Given the description of an element on the screen output the (x, y) to click on. 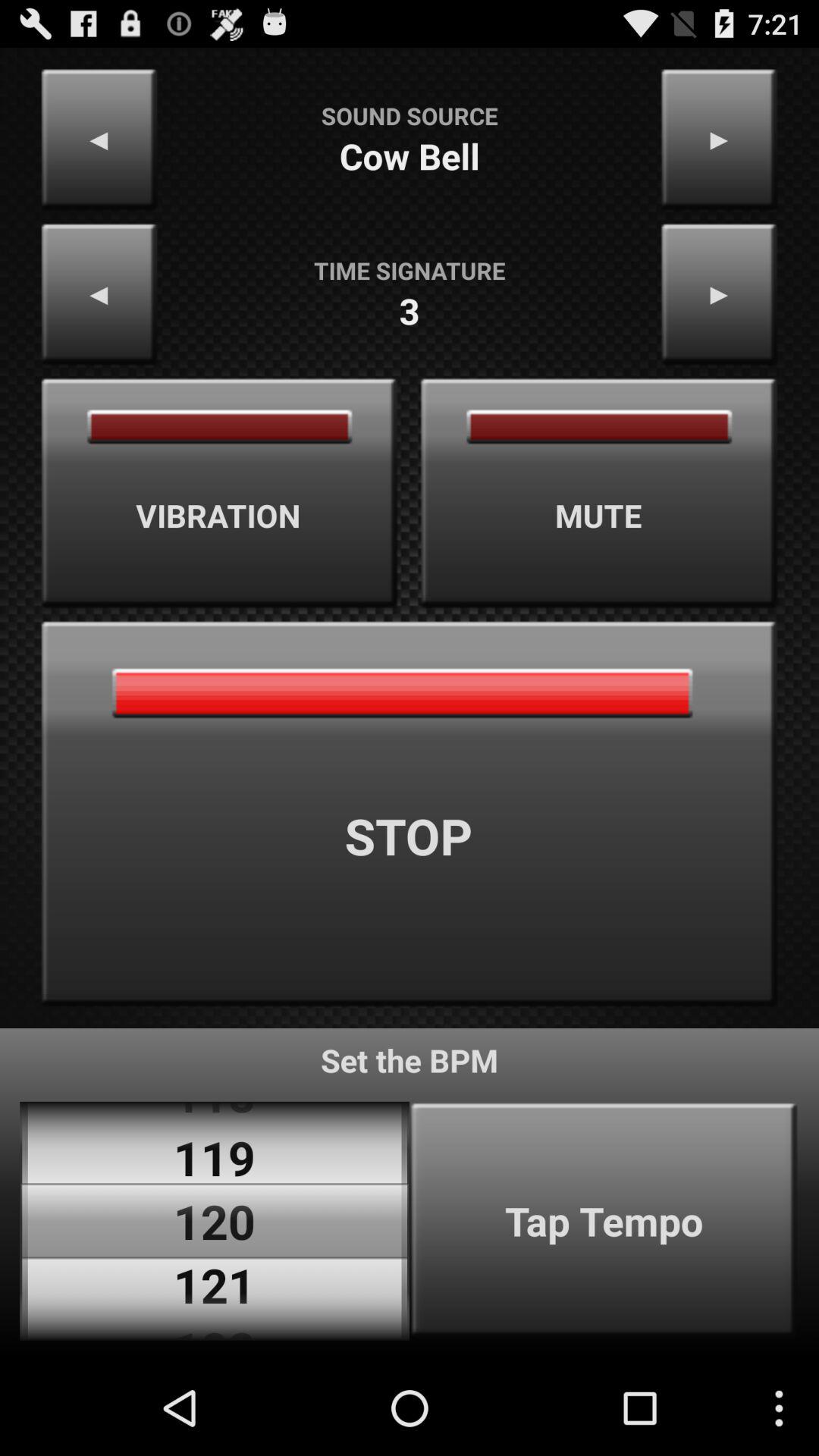
turn off icon to the right of the vibration icon (599, 493)
